Given the description of an element on the screen output the (x, y) to click on. 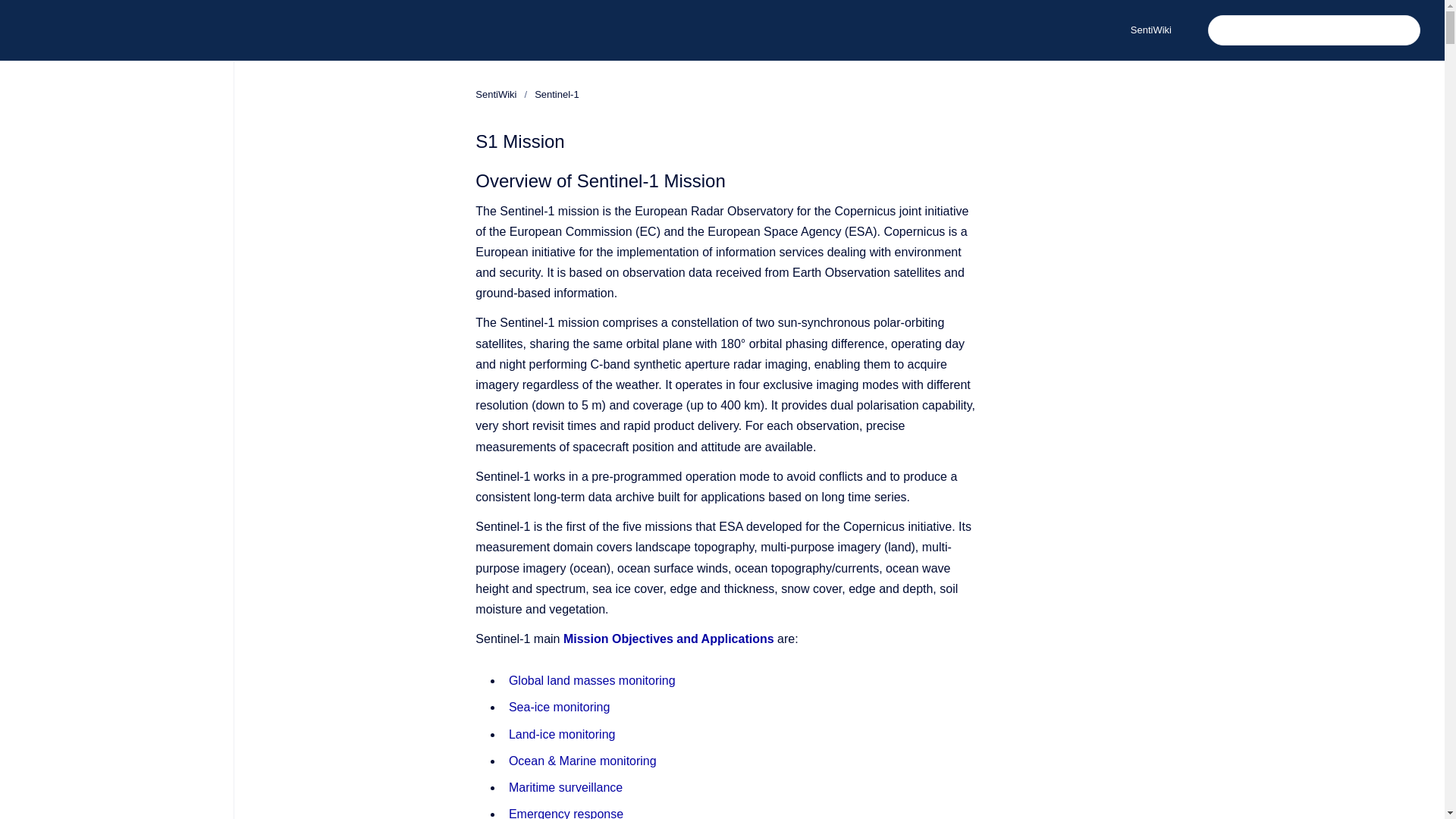
SentiWiki (1150, 29)
Global land masses monitoring (591, 680)
SentiWiki (496, 94)
Mission Objectives and Applications (668, 638)
Maritime surveillance (565, 787)
Emergency response (565, 813)
Go to homepage (39, 30)
Sentinel-1 (556, 94)
Sea-ice monitoring (559, 707)
